Given the description of an element on the screen output the (x, y) to click on. 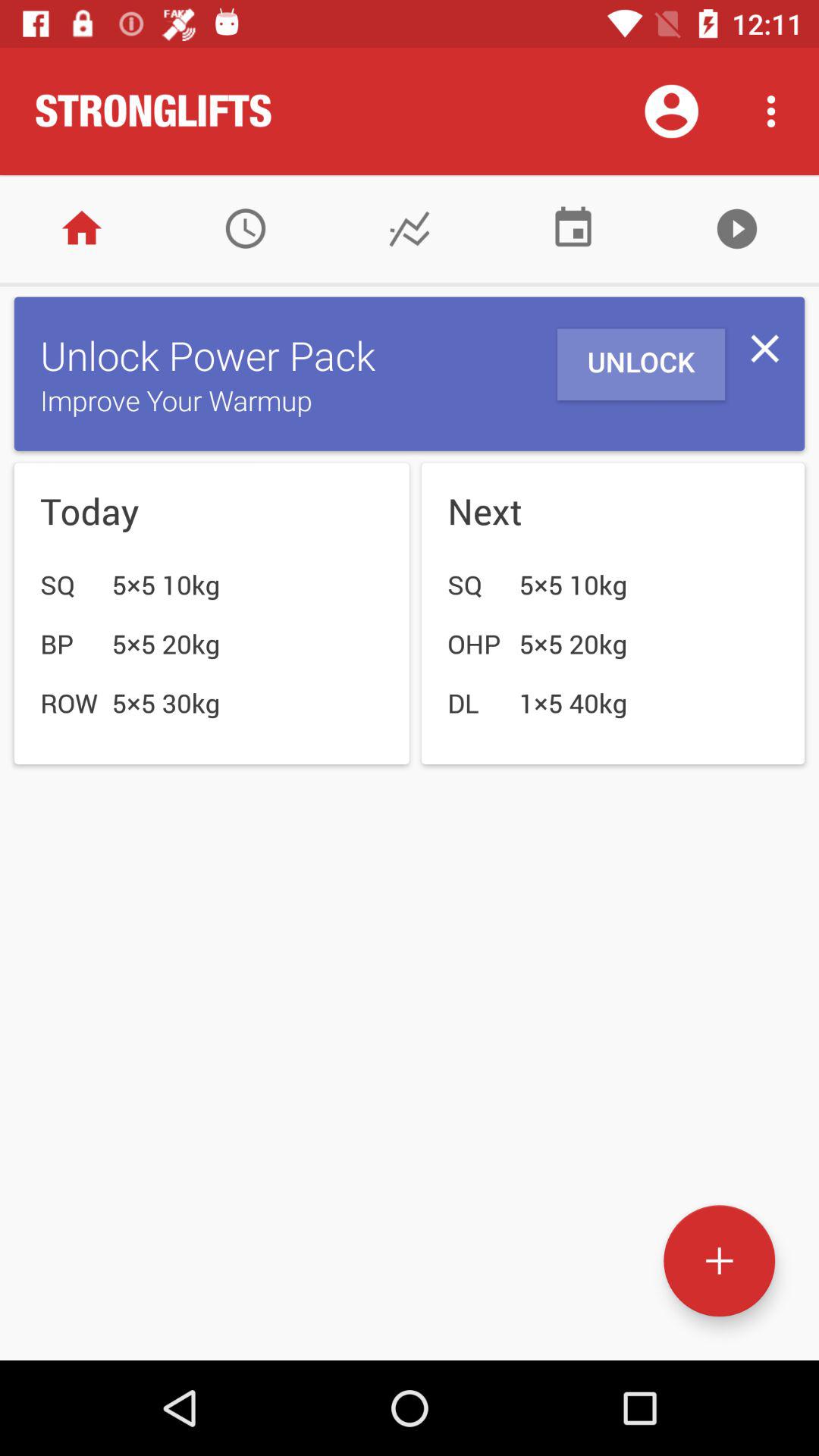
close power pack information panel (764, 348)
